Given the description of an element on the screen output the (x, y) to click on. 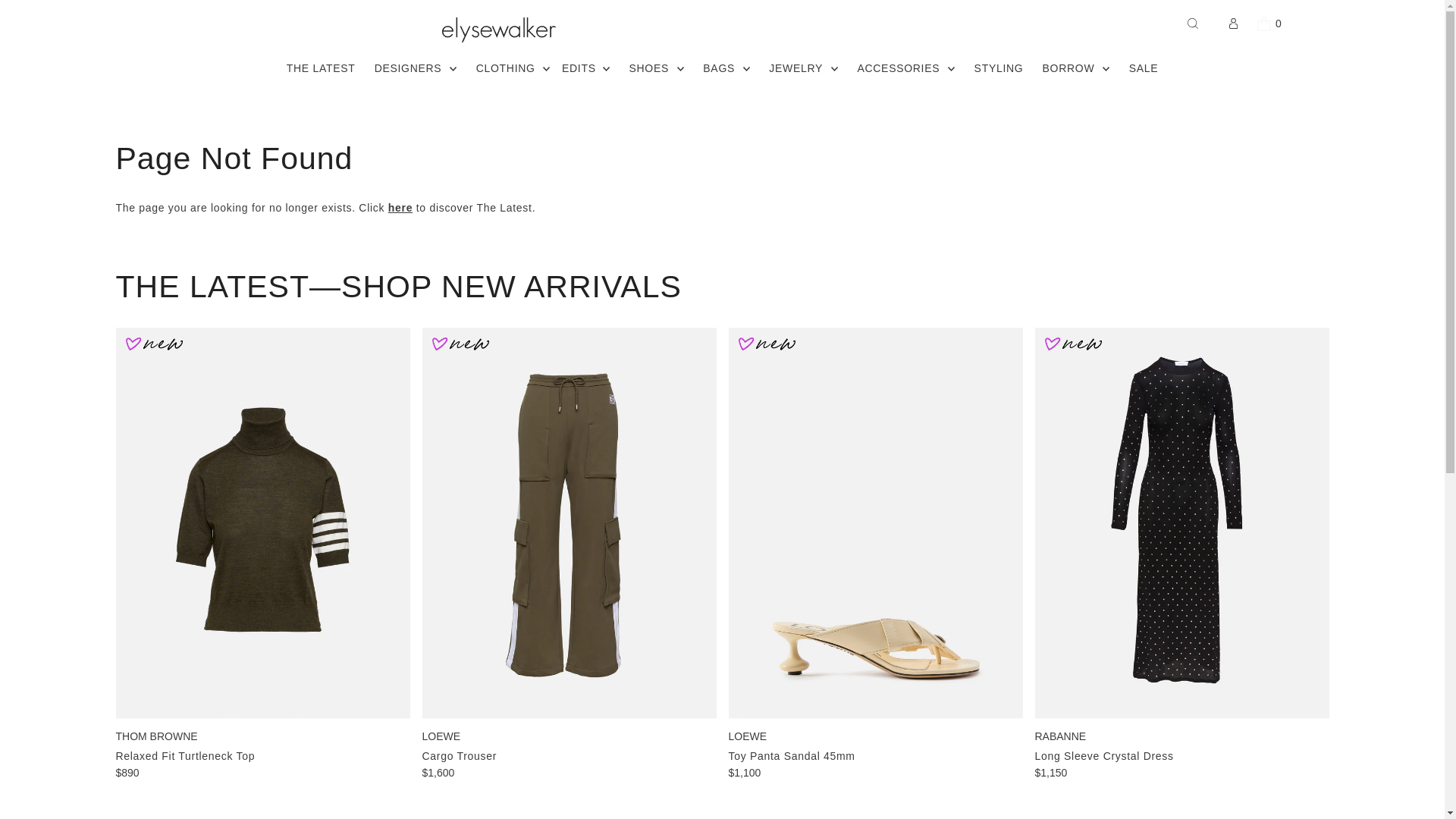
THE LATEST (400, 207)
